Given the description of an element on the screen output the (x, y) to click on. 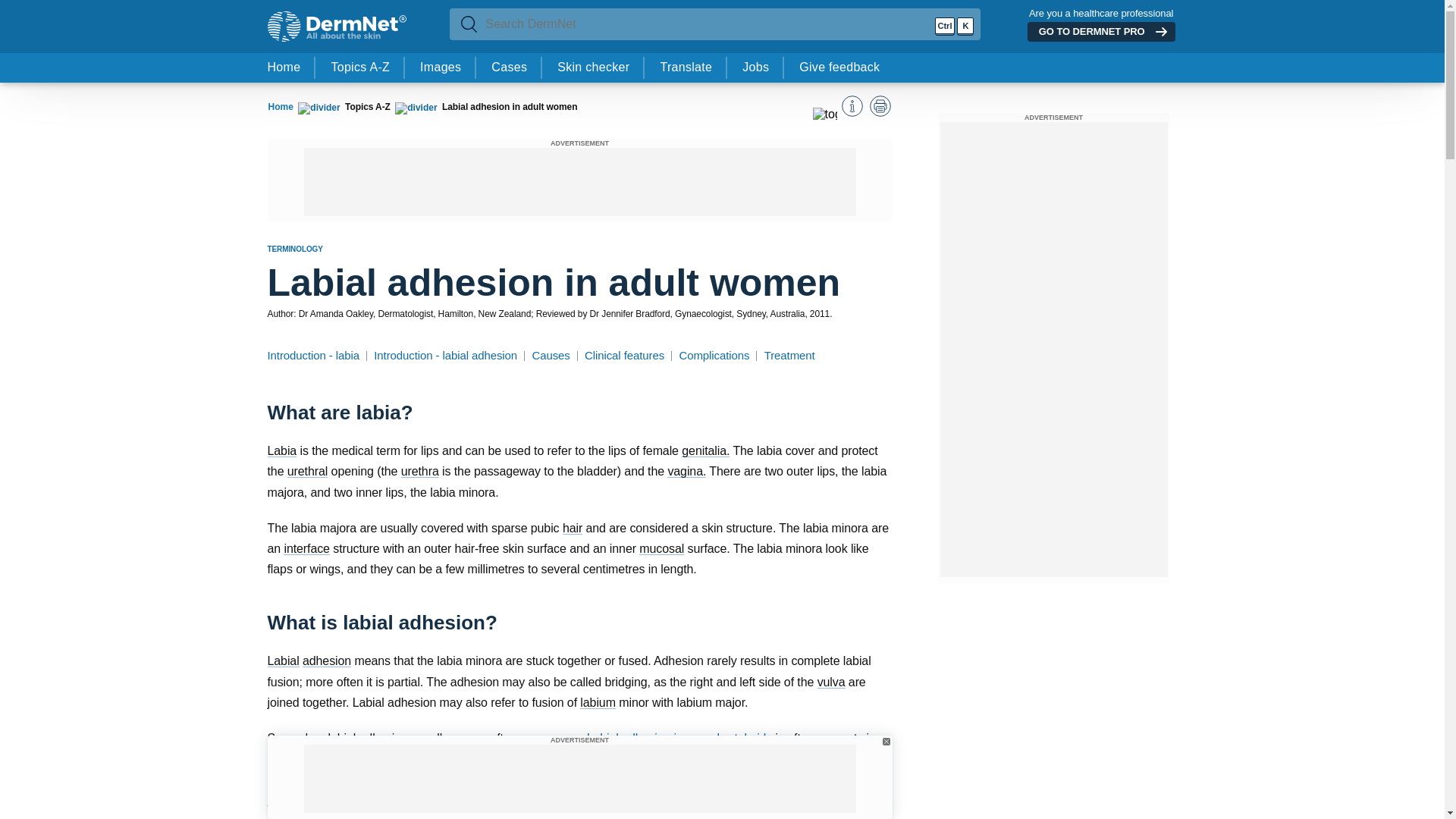
Translate (685, 67)
Images (440, 67)
DermNet (336, 26)
Labial adhesion in adult women (509, 106)
Jobs (755, 67)
Topics A-Z (367, 106)
Topics A-Z (359, 67)
Home (280, 106)
Home (283, 67)
Give feedback (839, 67)
Home (280, 106)
View topic information (852, 105)
Cases (508, 67)
Print this page (879, 105)
Toggle glossary items (824, 119)
